Given the description of an element on the screen output the (x, y) to click on. 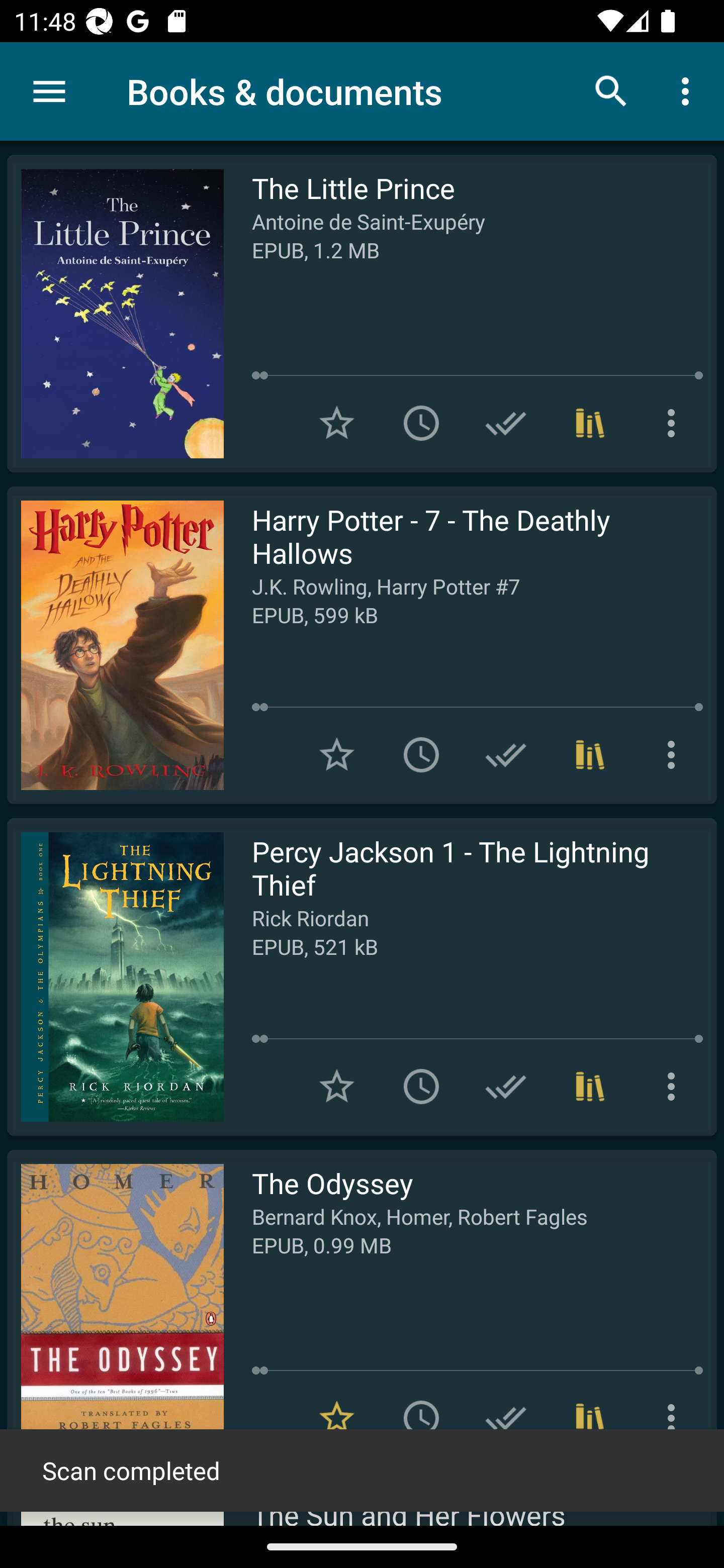
Menu (49, 91)
Search books & documents (611, 90)
More options (688, 90)
Read The Little Prince (115, 313)
Add to Favorites (336, 423)
Add to To read (421, 423)
Add to Have read (505, 423)
Collections (1) (590, 423)
More options (674, 423)
Read Harry Potter - 7 - The Deathly Hallows (115, 645)
Add to Favorites (336, 753)
Add to To read (421, 753)
Add to Have read (505, 753)
Collections (1) (590, 753)
More options (674, 753)
Read Percy Jackson 1 - The Lightning Thief (115, 976)
Add to Favorites (336, 1086)
Add to To read (421, 1086)
Add to Have read (505, 1086)
Collections (1) (590, 1086)
More options (674, 1086)
Read The Odyssey (115, 1308)
Remove from Favorites (336, 1417)
Add to To read (421, 1417)
Add to Have read (505, 1417)
Collections (1) (590, 1417)
More options (674, 1417)
